Given the description of an element on the screen output the (x, y) to click on. 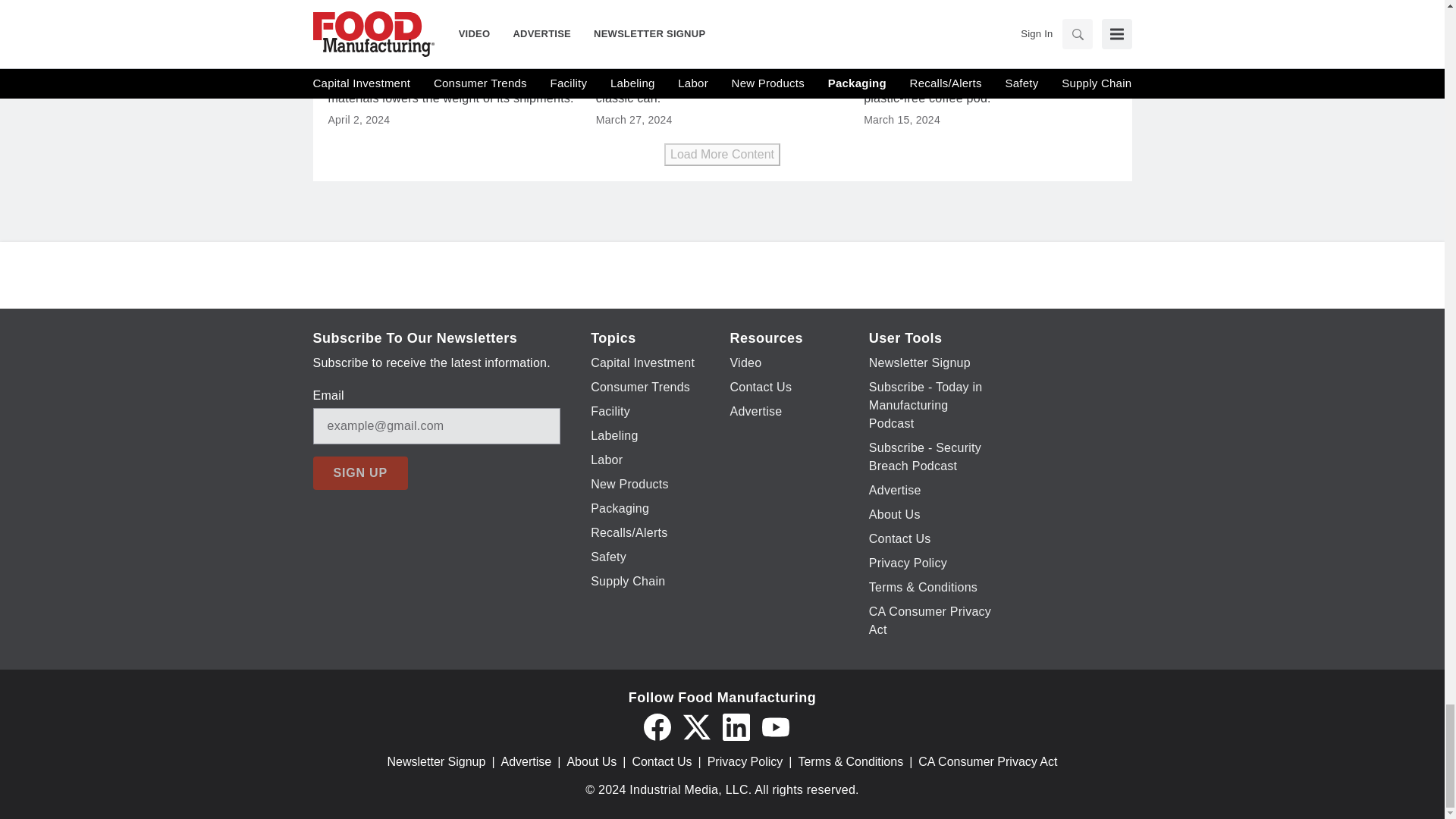
YouTube icon (775, 727)
Facebook icon (656, 727)
LinkedIn icon (735, 727)
Twitter X icon (696, 727)
